Given the description of an element on the screen output the (x, y) to click on. 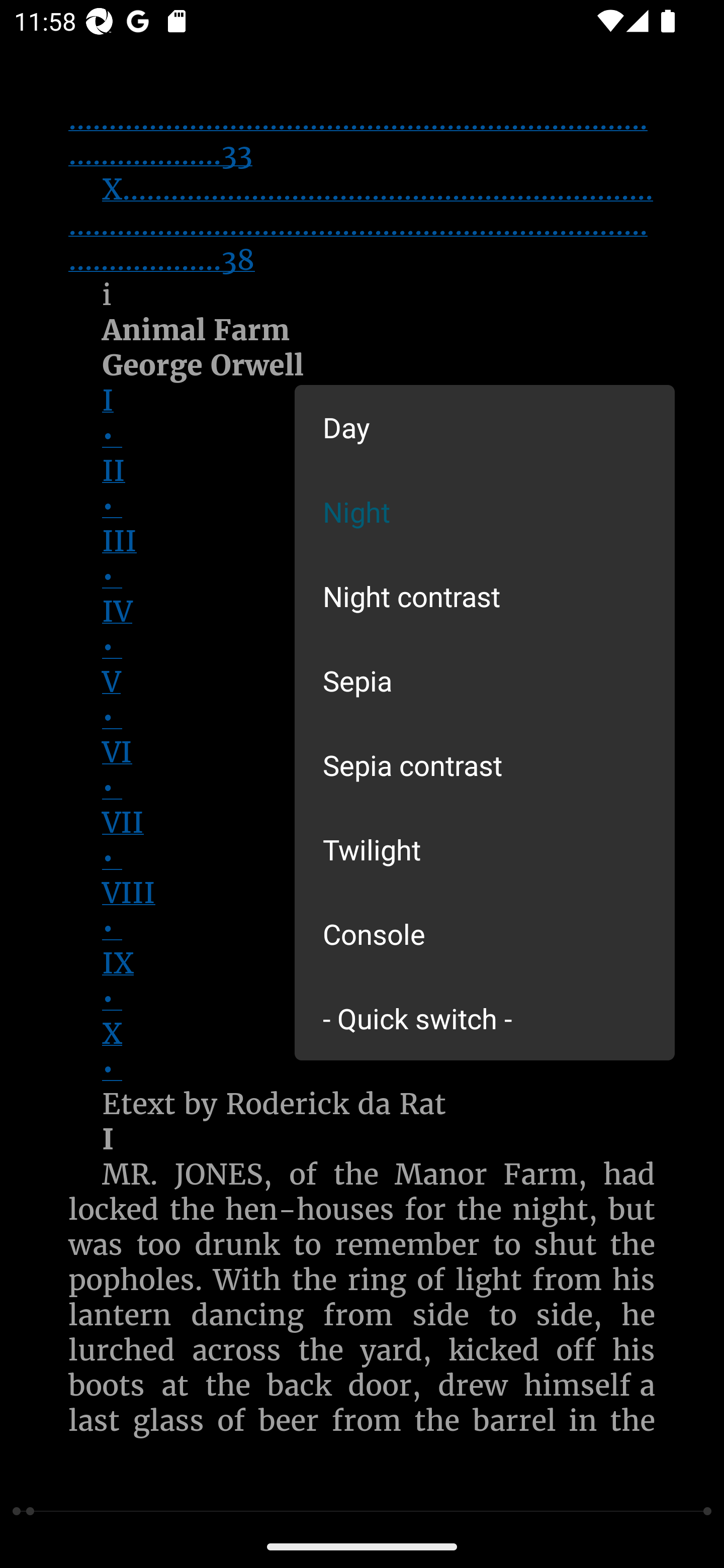
Day (484, 426)
Night (484, 510)
Night contrast (484, 595)
Sepia (484, 680)
Sepia contrast (484, 764)
Twilight (484, 849)
Console (484, 933)
- Quick switch - (484, 1017)
